Given the description of an element on the screen output the (x, y) to click on. 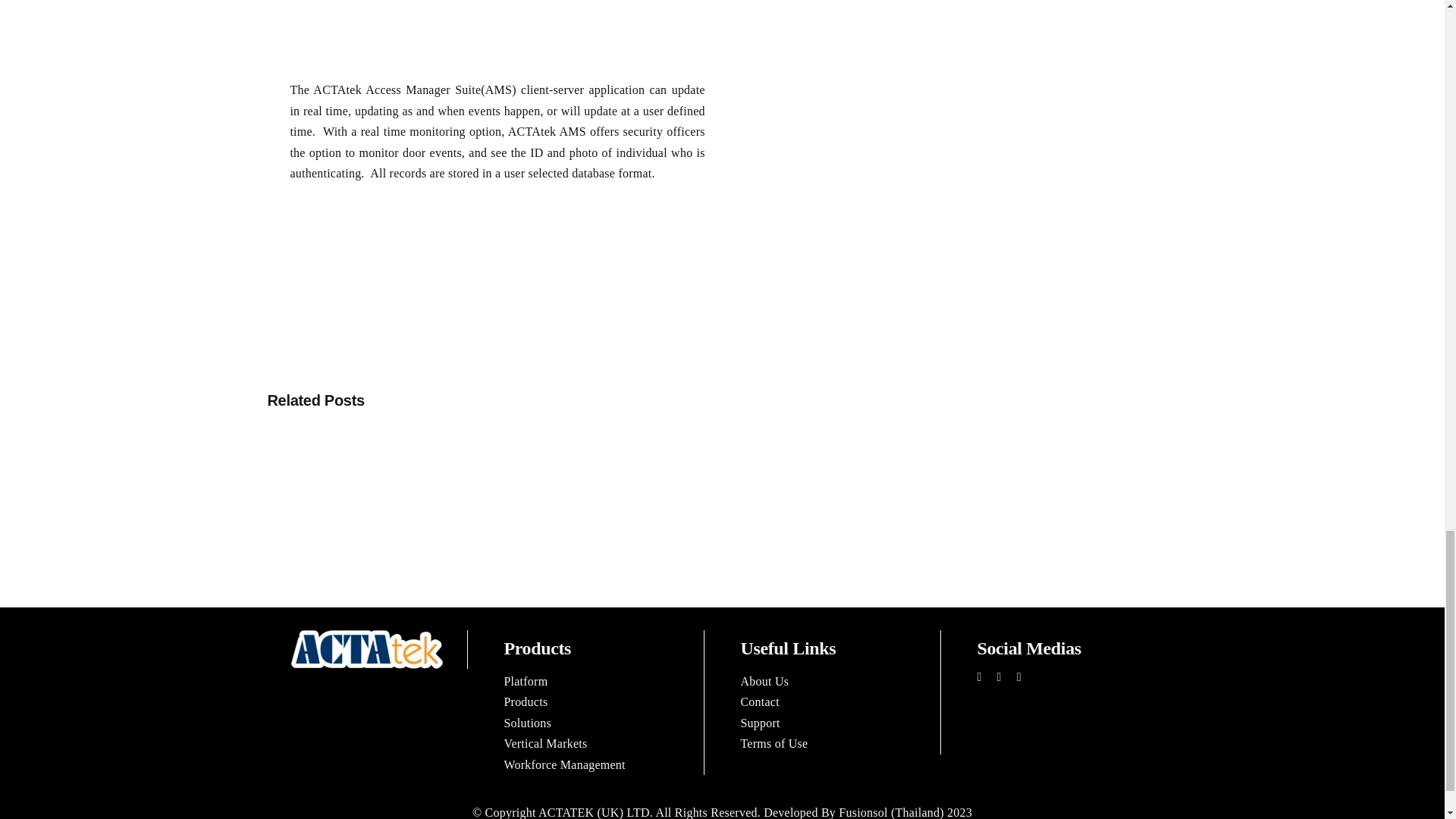
Workforce Management (603, 764)
Access Control 3 (898, 169)
AccessControl 2 (441, 5)
Products (603, 701)
Vertical Markets (603, 743)
Platform (603, 681)
Solutions (603, 722)
